Given the description of an element on the screen output the (x, y) to click on. 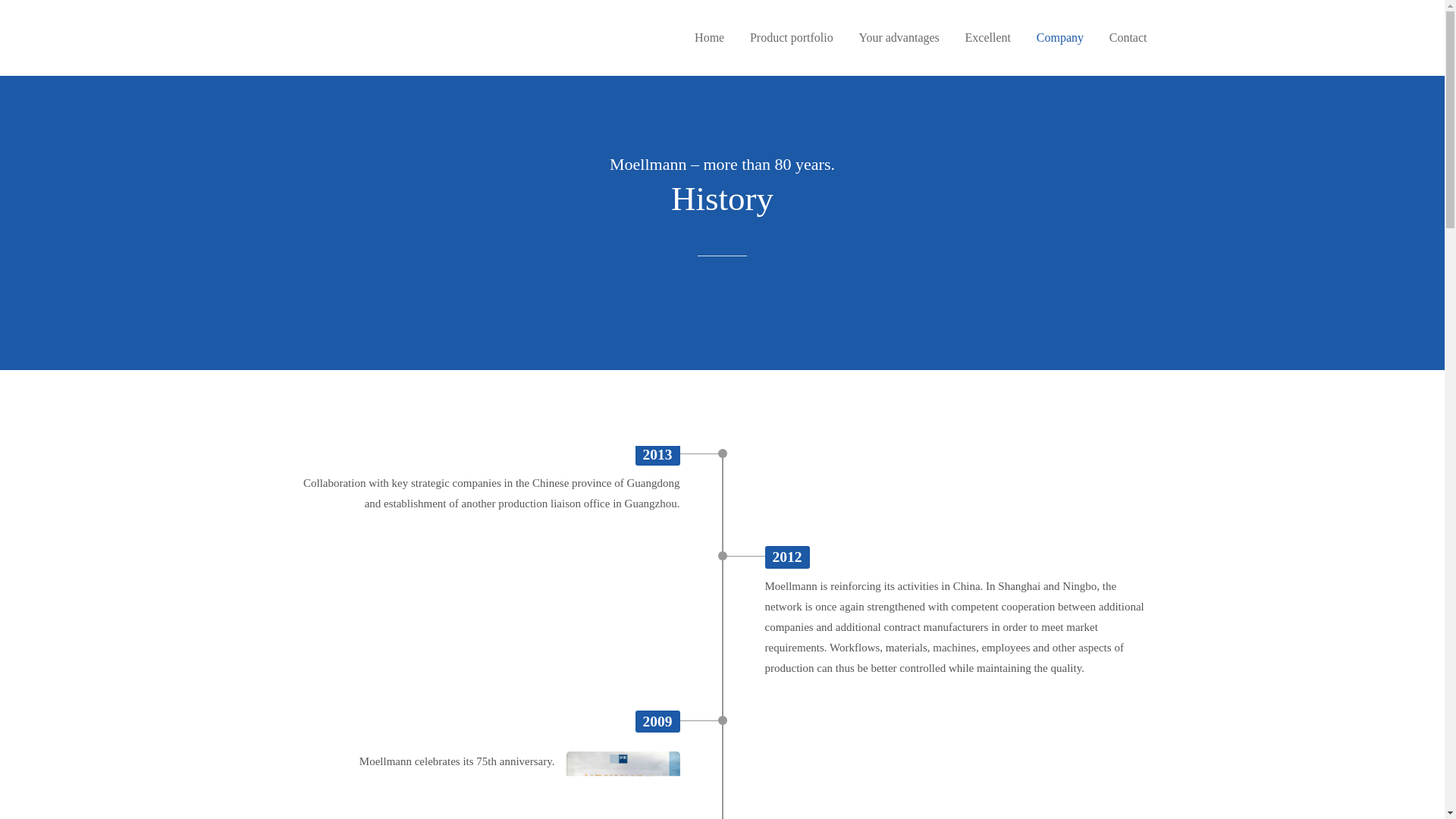
Your advantages (899, 38)
Product portfolio (790, 38)
Your advantages (899, 38)
Product portfolio (790, 38)
